Given the description of an element on the screen output the (x, y) to click on. 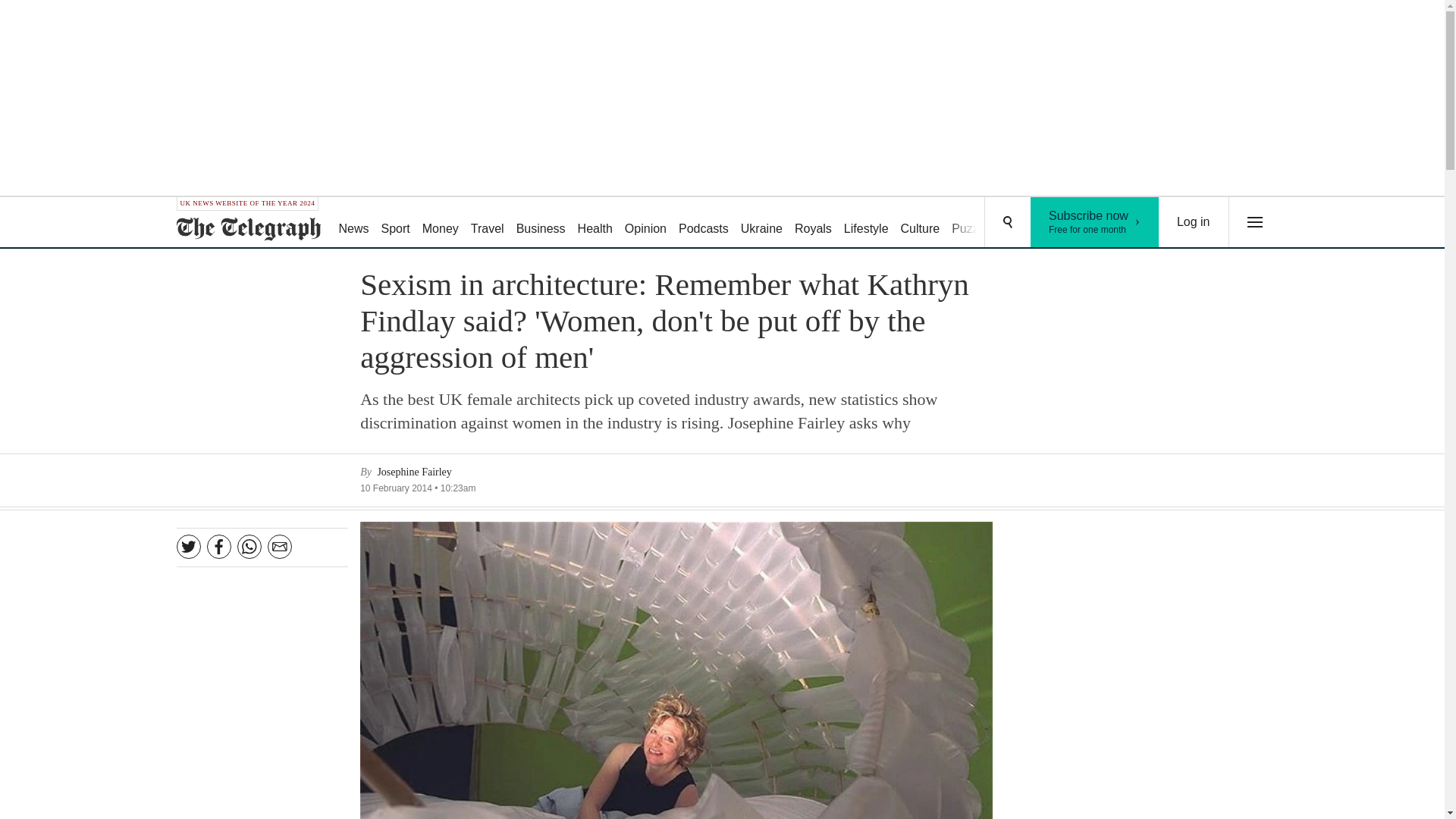
Puzzles (972, 223)
Royals (813, 223)
Podcasts (703, 223)
Culture (920, 223)
Business (541, 223)
Opinion (645, 223)
Log in (1094, 222)
Lifestyle (1193, 222)
Health (866, 223)
Travel (595, 223)
Ukraine (487, 223)
Money (762, 223)
